Given the description of an element on the screen output the (x, y) to click on. 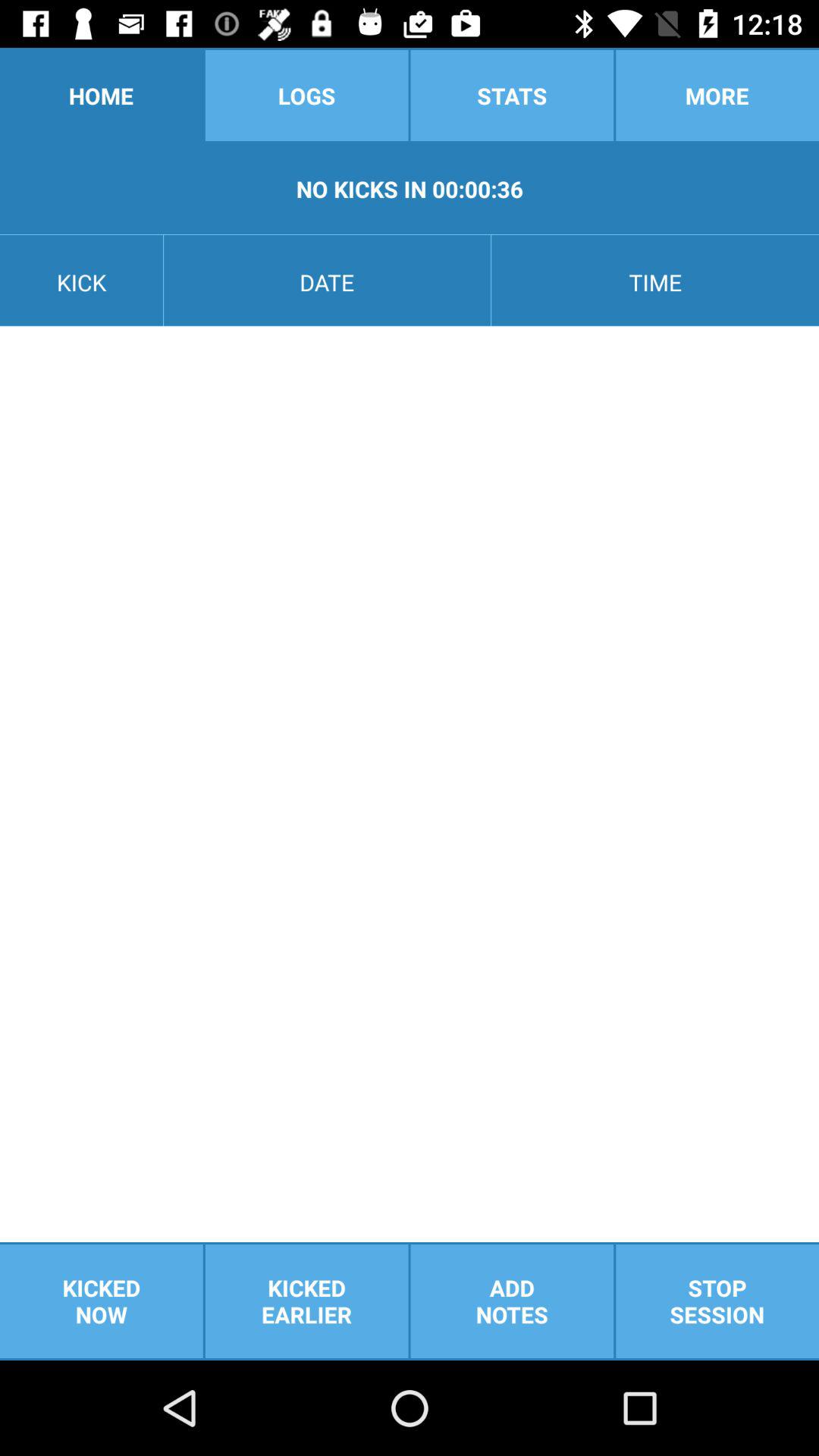
flip to kicked
earlier icon (306, 1301)
